Given the description of an element on the screen output the (x, y) to click on. 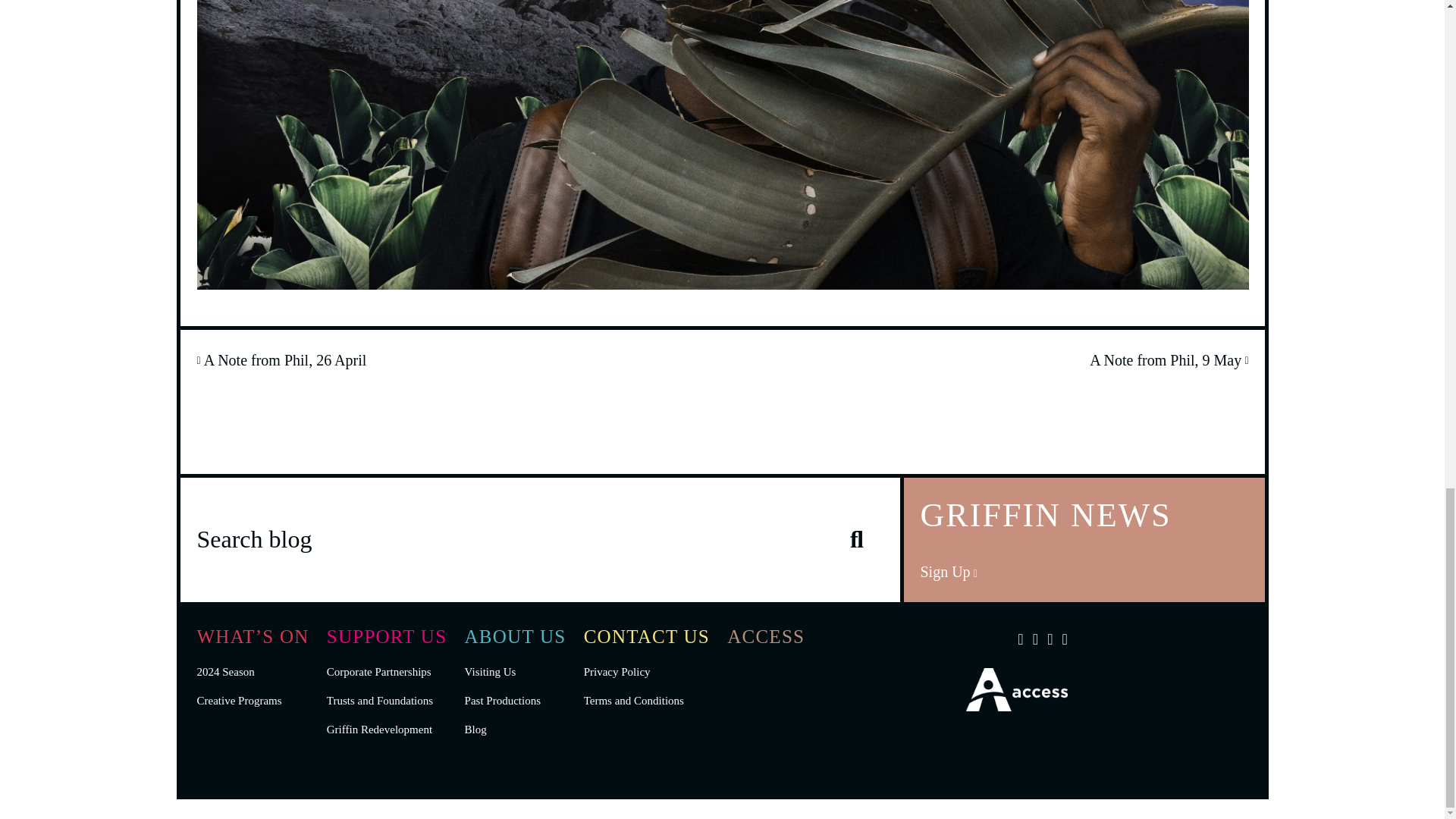
2024 Season (225, 671)
Creative Programs (239, 700)
A Note from Phil, 26 April (281, 360)
GRIFFIN NEWS (1084, 538)
Sign Up (948, 571)
Corporate Partnerships (378, 671)
A Note from Phil, 9 May (1168, 360)
SUPPORT US (386, 636)
Accessibility (1016, 705)
